Given the description of an element on the screen output the (x, y) to click on. 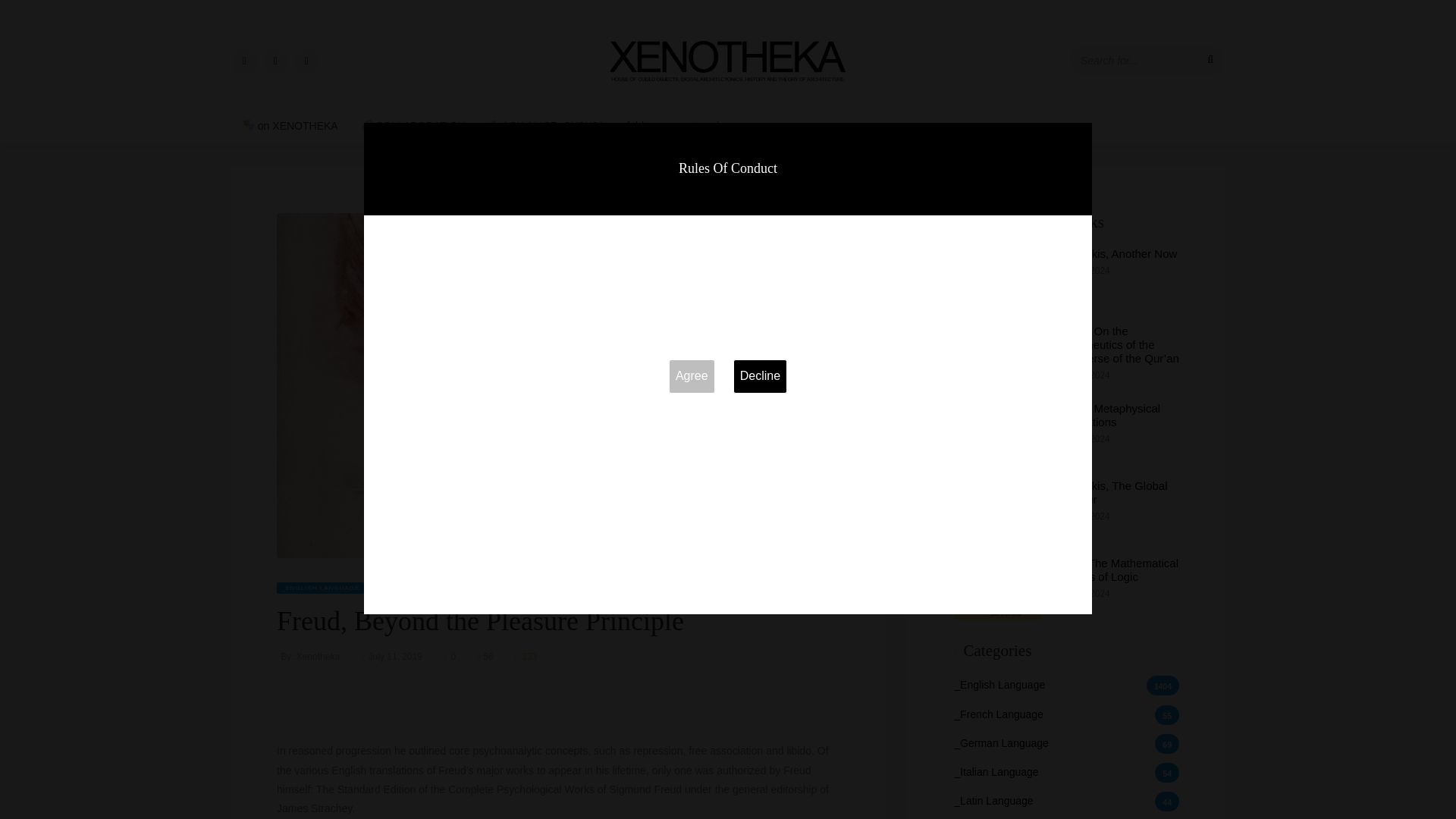
YouTube (244, 59)
categories (707, 125)
folders (641, 125)
on XENOTHEKA (290, 125)
Instagram (275, 59)
categories (707, 125)
folders (641, 125)
Decline (760, 376)
COLLABORATION (413, 125)
Reddit (307, 59)
Agree (691, 376)
Xenotheka (727, 59)
